Given the description of an element on the screen output the (x, y) to click on. 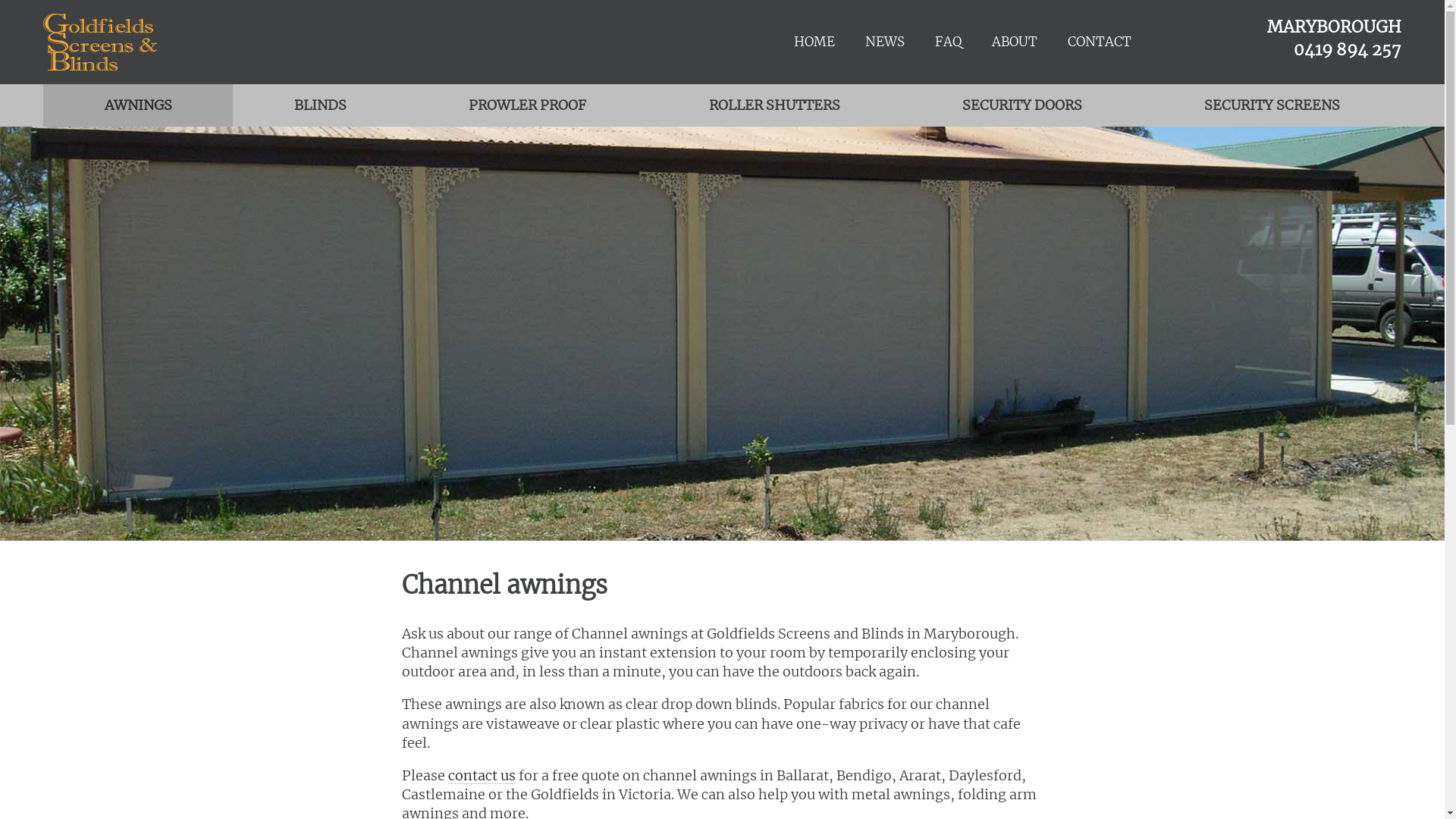
SECURITY DOORS Element type: text (1021, 105)
PROWLER PROOF Element type: text (527, 105)
HOME Element type: text (813, 42)
ABOUT Element type: text (1014, 42)
AWNINGS Element type: text (137, 105)
SECURITY SCREENS Element type: text (1272, 105)
NEWS Element type: text (884, 42)
contact us Element type: text (481, 775)
ROLLER SHUTTERS Element type: text (774, 105)
BLINDS Element type: text (319, 105)
CONTACT Element type: text (1099, 42)
FAQ Element type: text (948, 42)
